Given the description of an element on the screen output the (x, y) to click on. 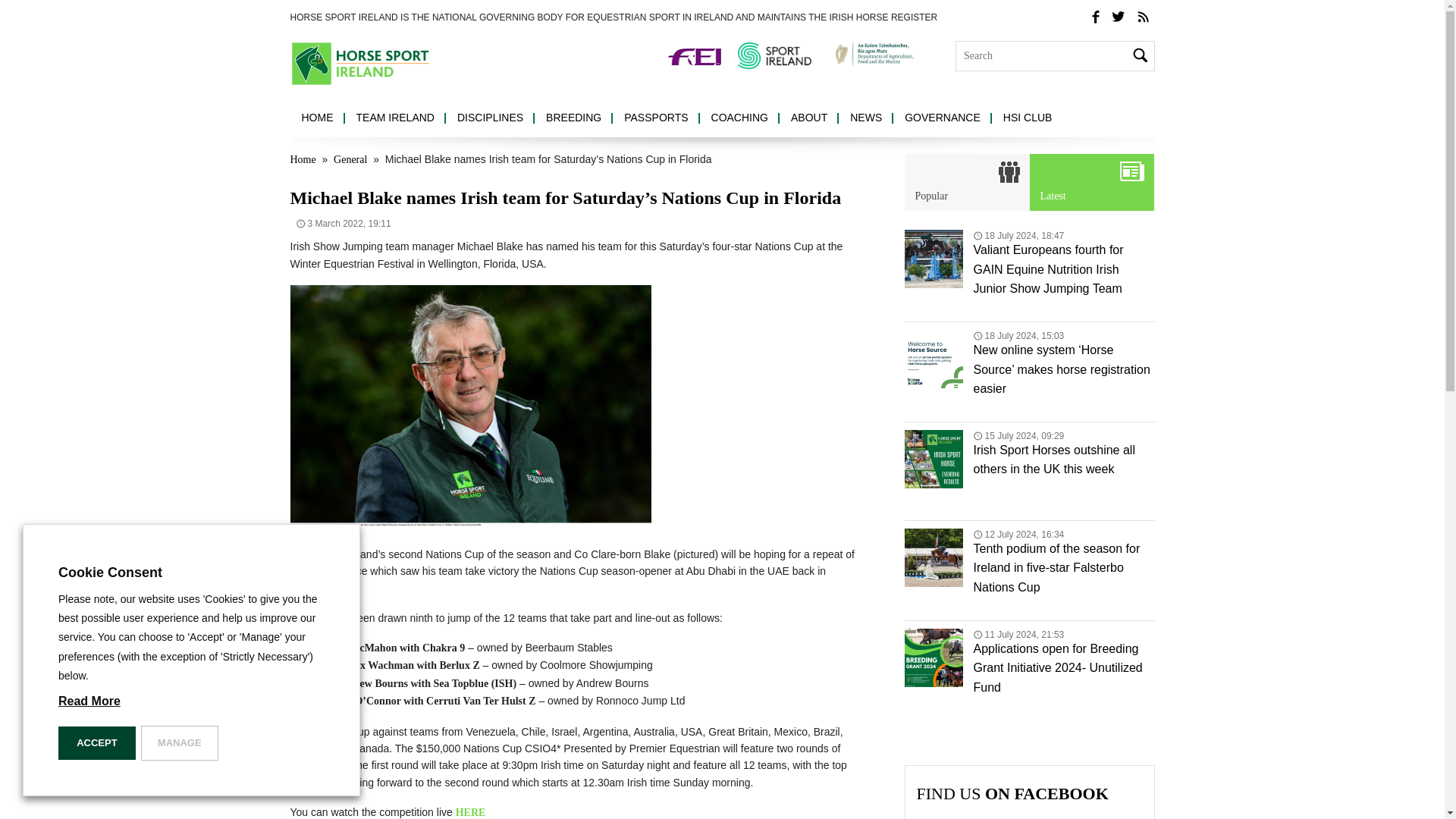
HOME (316, 118)
DISCIPLINES (489, 118)
TEAM IRELAND (394, 118)
